Given the description of an element on the screen output the (x, y) to click on. 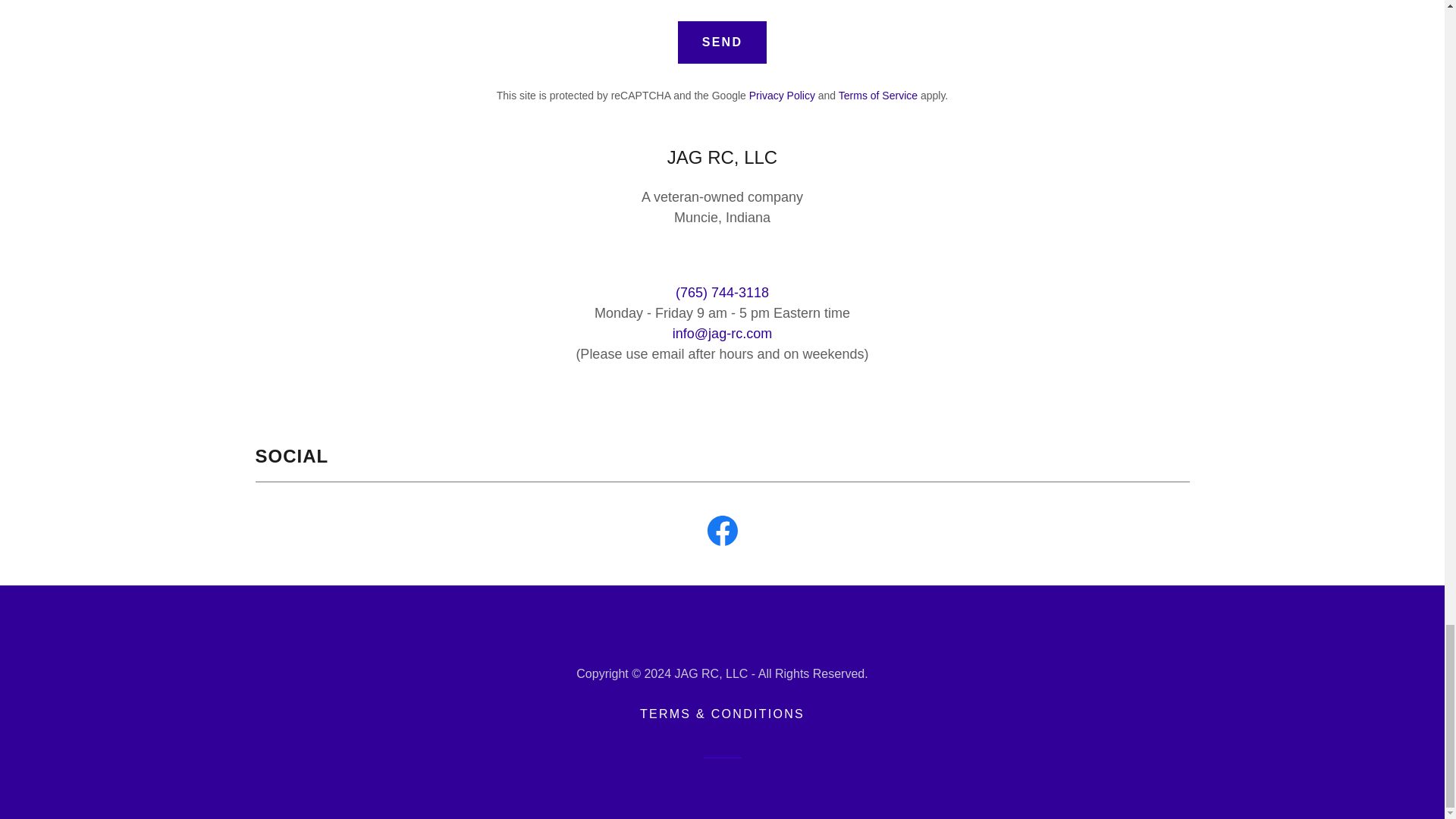
SEND (722, 42)
Privacy Policy (782, 95)
Terms of Service (877, 95)
